Given the description of an element on the screen output the (x, y) to click on. 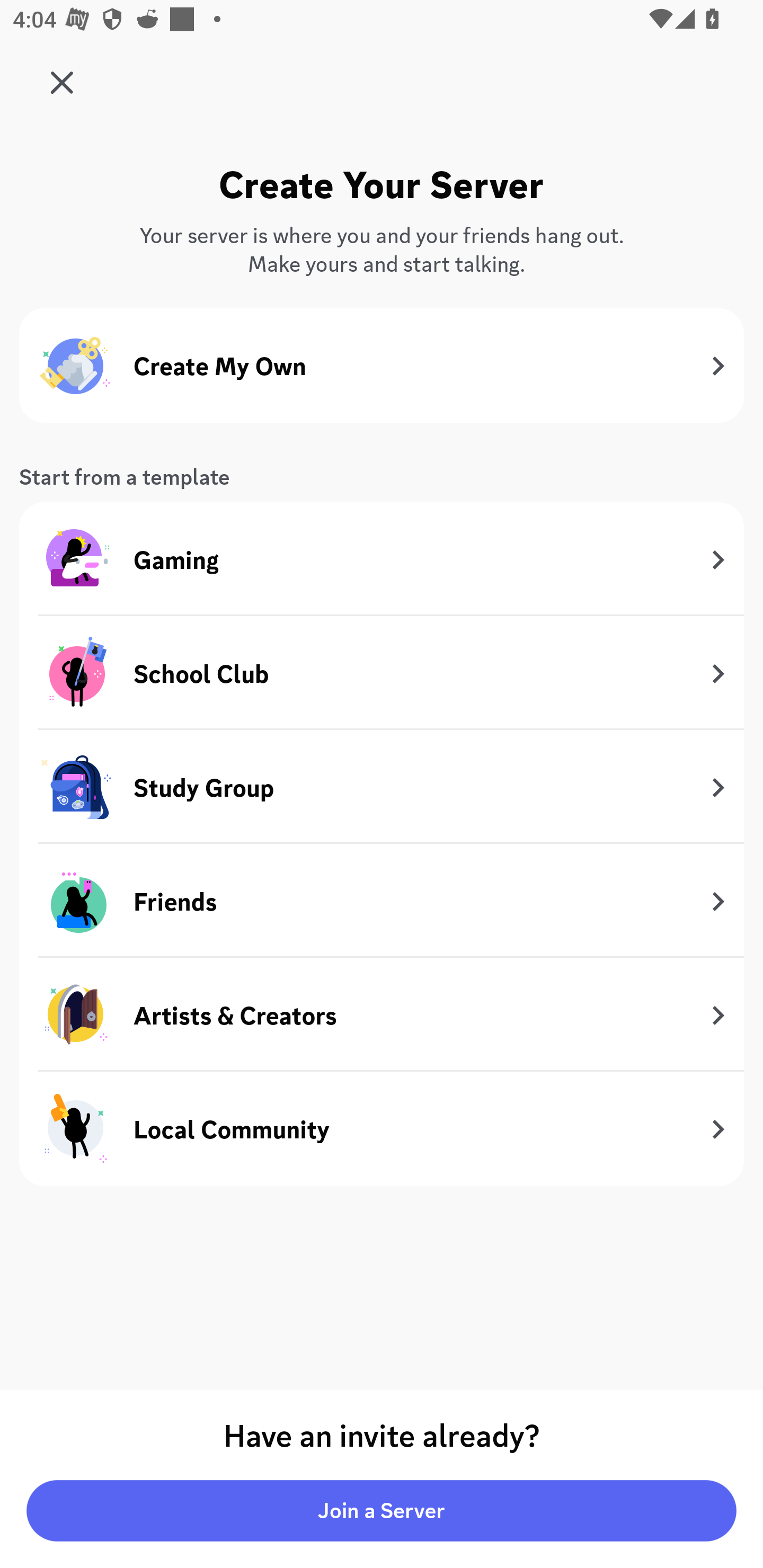
  Study Group Sunday 5PM SGS5 (66, 75)
Search (373, 165)
Create My Own (381, 365)
Gaming (381, 558)
School Club (381, 673)
Study Group (381, 787)
Friends (381, 900)
Artists & Creators (381, 1015)
Local Community (381, 1127)
Join a Server (381, 1510)
